Given the description of an element on the screen output the (x, y) to click on. 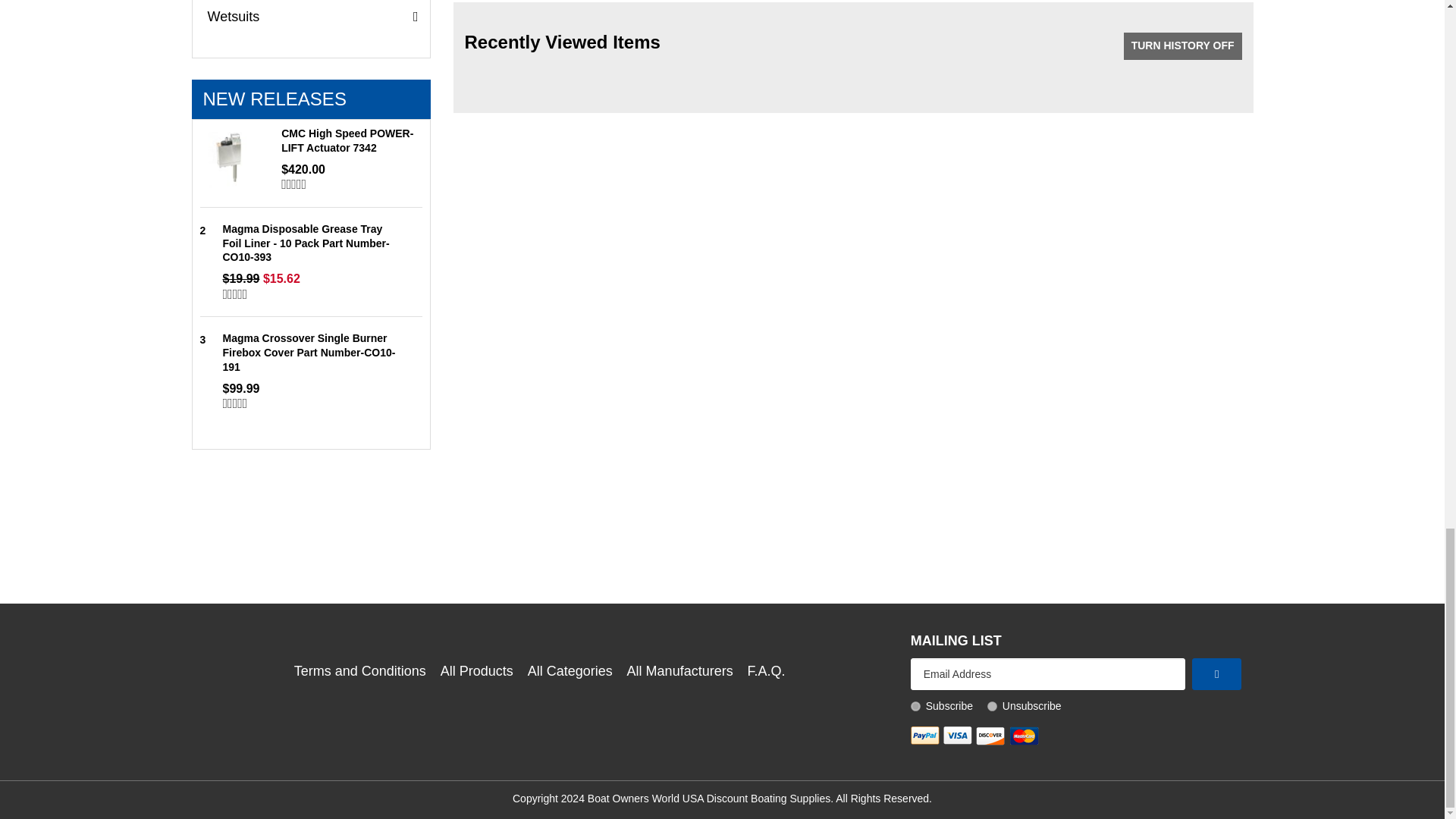
1 (915, 706)
0 (992, 706)
